Given the description of an element on the screen output the (x, y) to click on. 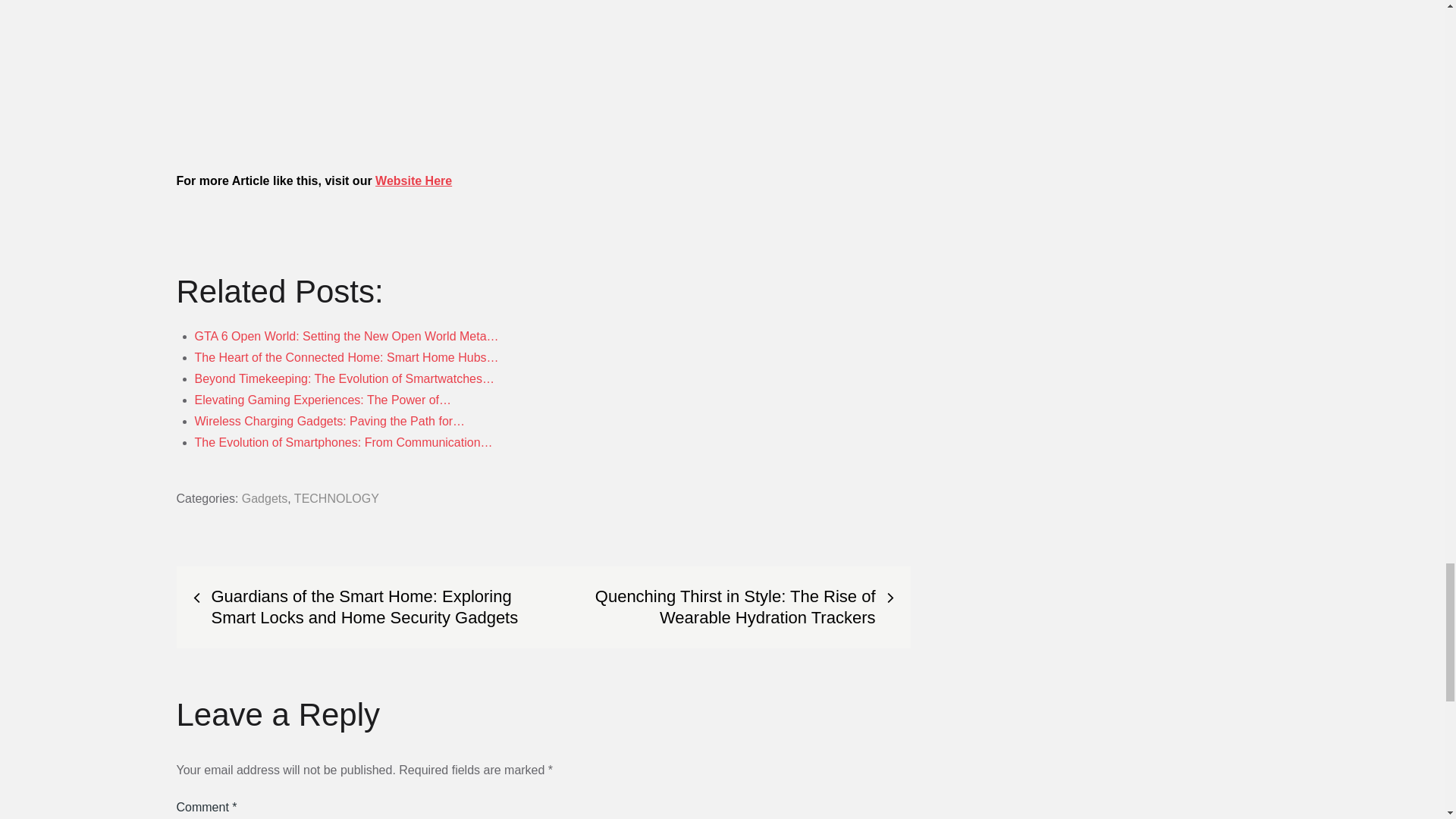
Website Here (413, 180)
TECHNOLOGY (336, 498)
Gadgets (263, 498)
